Given the description of an element on the screen output the (x, y) to click on. 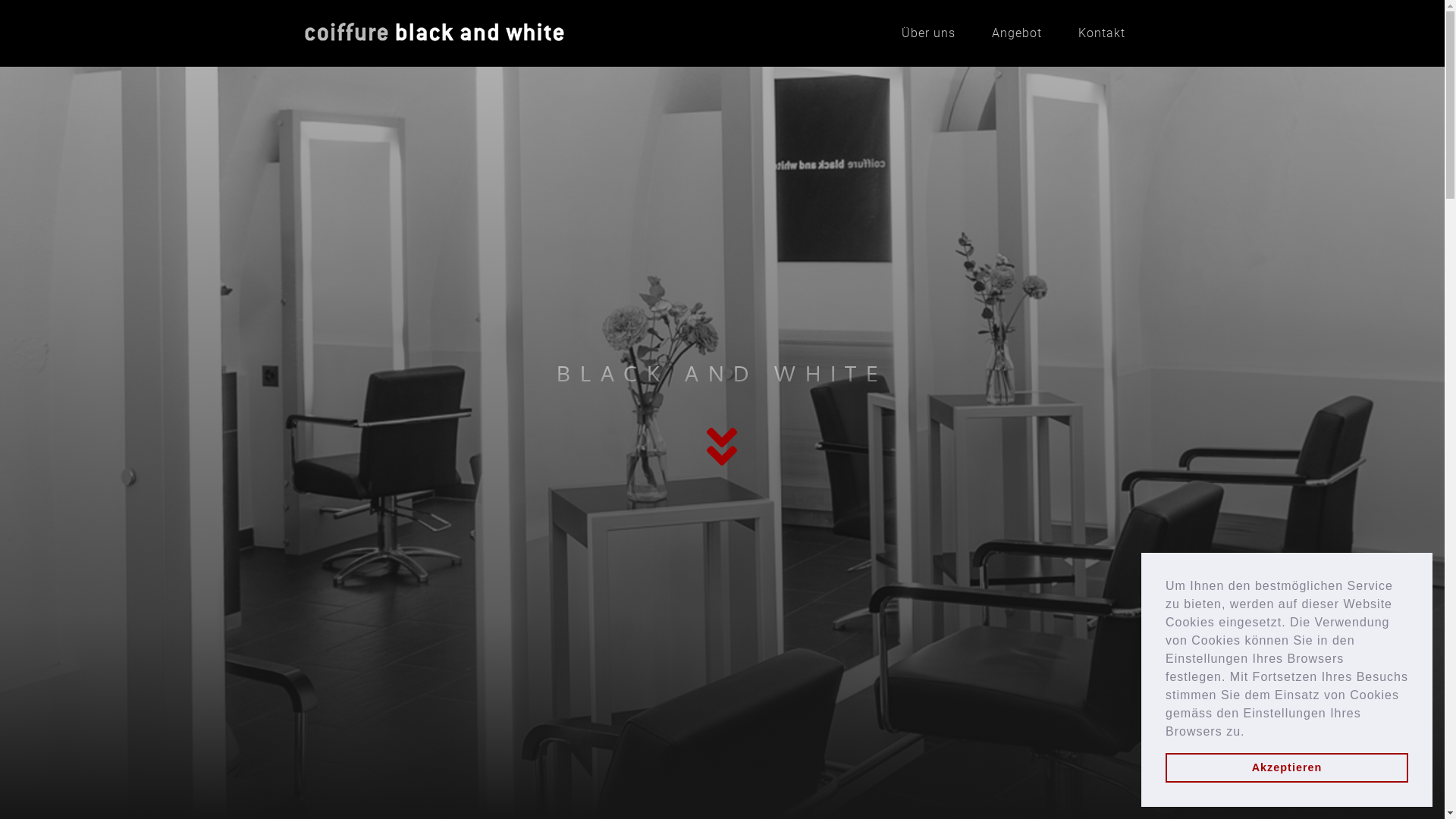
Akzeptieren Element type: text (1286, 767)
Kontakt Element type: text (1101, 33)
Angebot Element type: text (1016, 33)
